Given the description of an element on the screen output the (x, y) to click on. 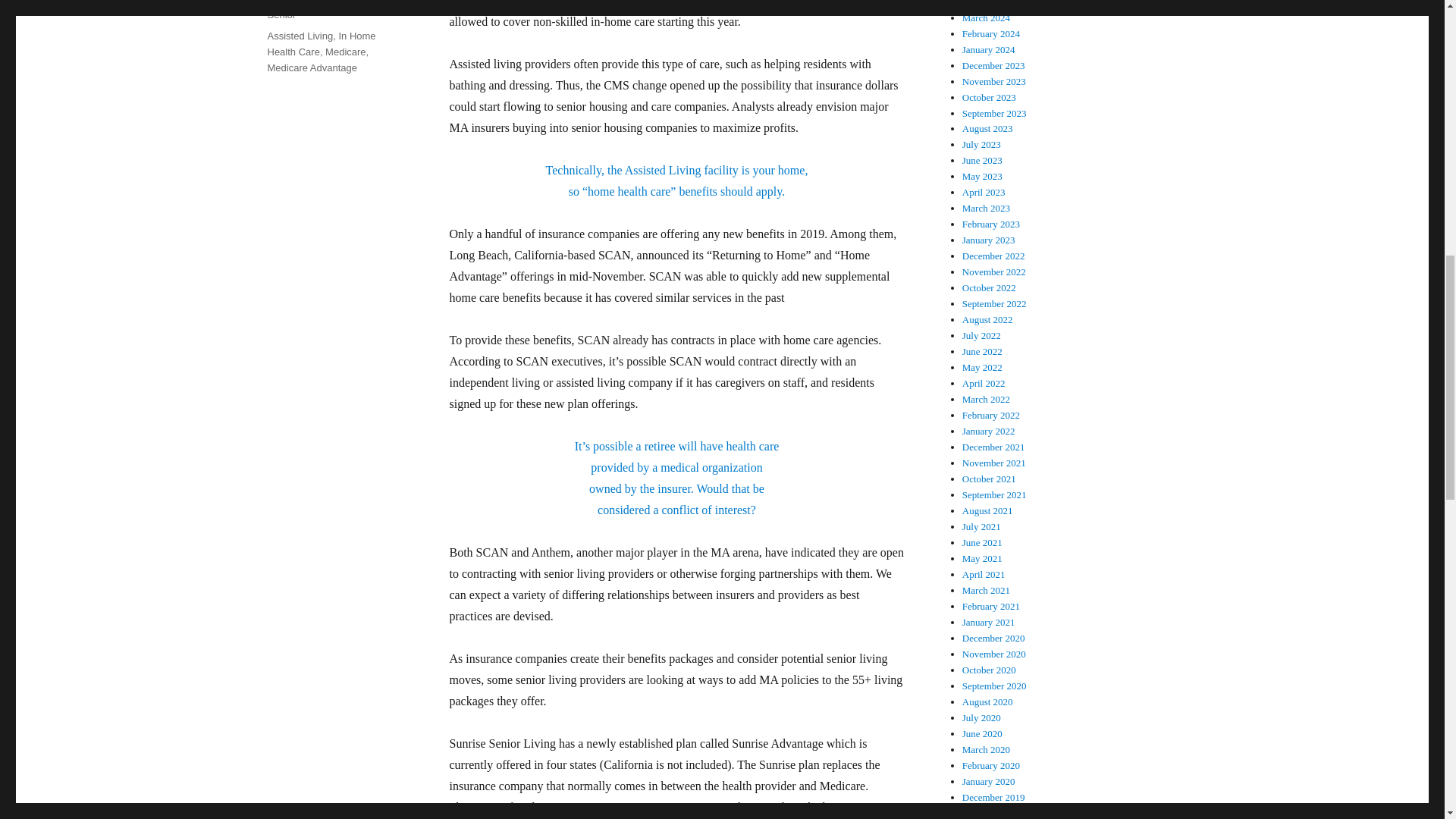
March 2023 (986, 207)
December 2023 (993, 65)
Medicare (344, 51)
January 2024 (988, 49)
November 2023 (994, 81)
July 2023 (981, 143)
April 2024 (984, 3)
August 2023 (987, 128)
Assisted Living (299, 35)
In Home Health Care (320, 43)
May 2023 (982, 175)
February 2024 (991, 33)
October 2023 (989, 97)
Medicare Advantage (311, 67)
September 2023 (994, 112)
